Given the description of an element on the screen output the (x, y) to click on. 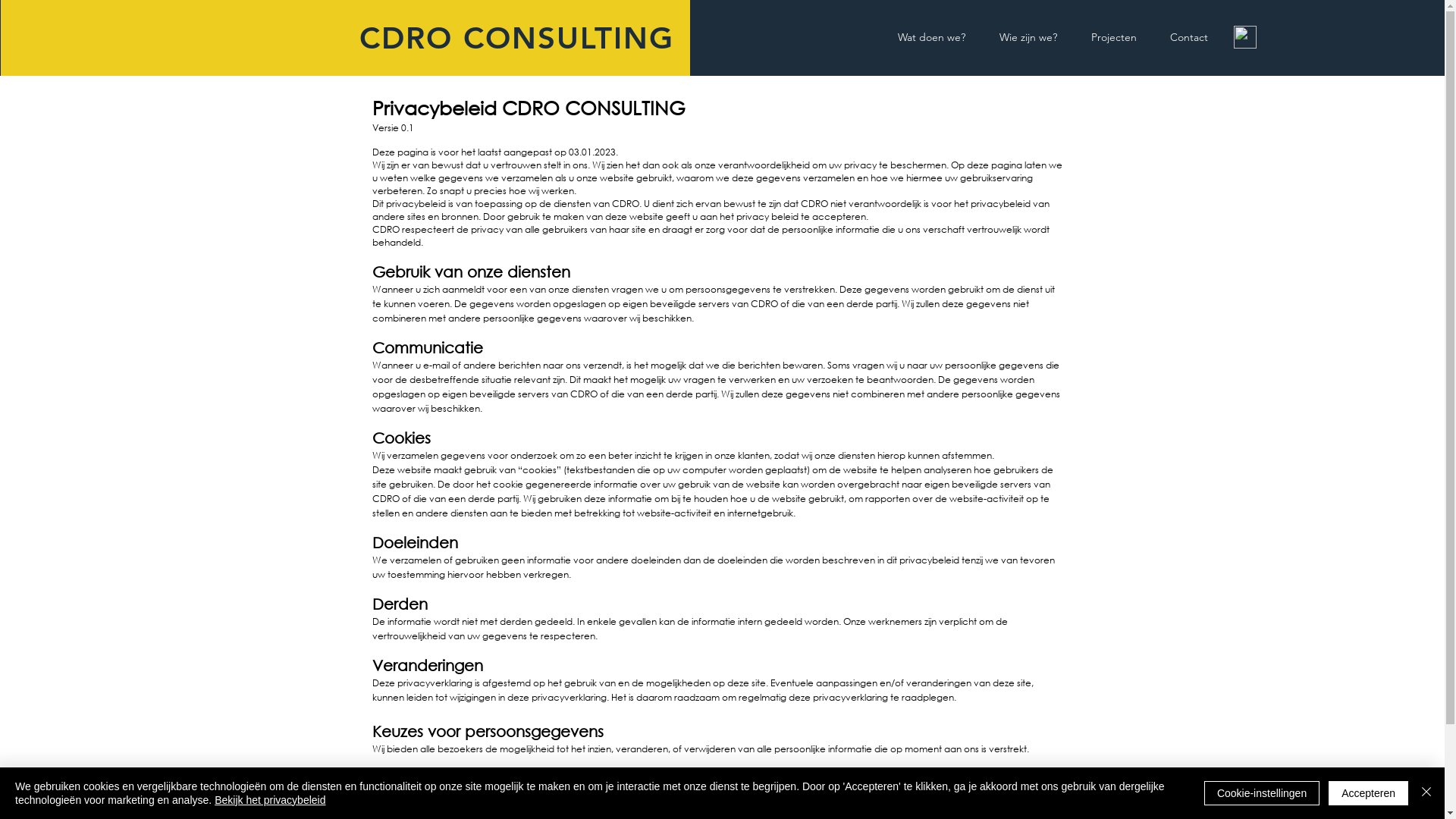
Bekijk het privacybeleid Element type: text (269, 799)
Accepteren Element type: text (1368, 793)
CDRO CONSULTING Element type: text (516, 37)
Wie zijn we? Element type: text (1028, 37)
Projecten Element type: text (1112, 37)
Contact Element type: text (1187, 37)
Cookie-instellingen Element type: text (1261, 793)
Wat doen we? Element type: text (931, 37)
